Given the description of an element on the screen output the (x, y) to click on. 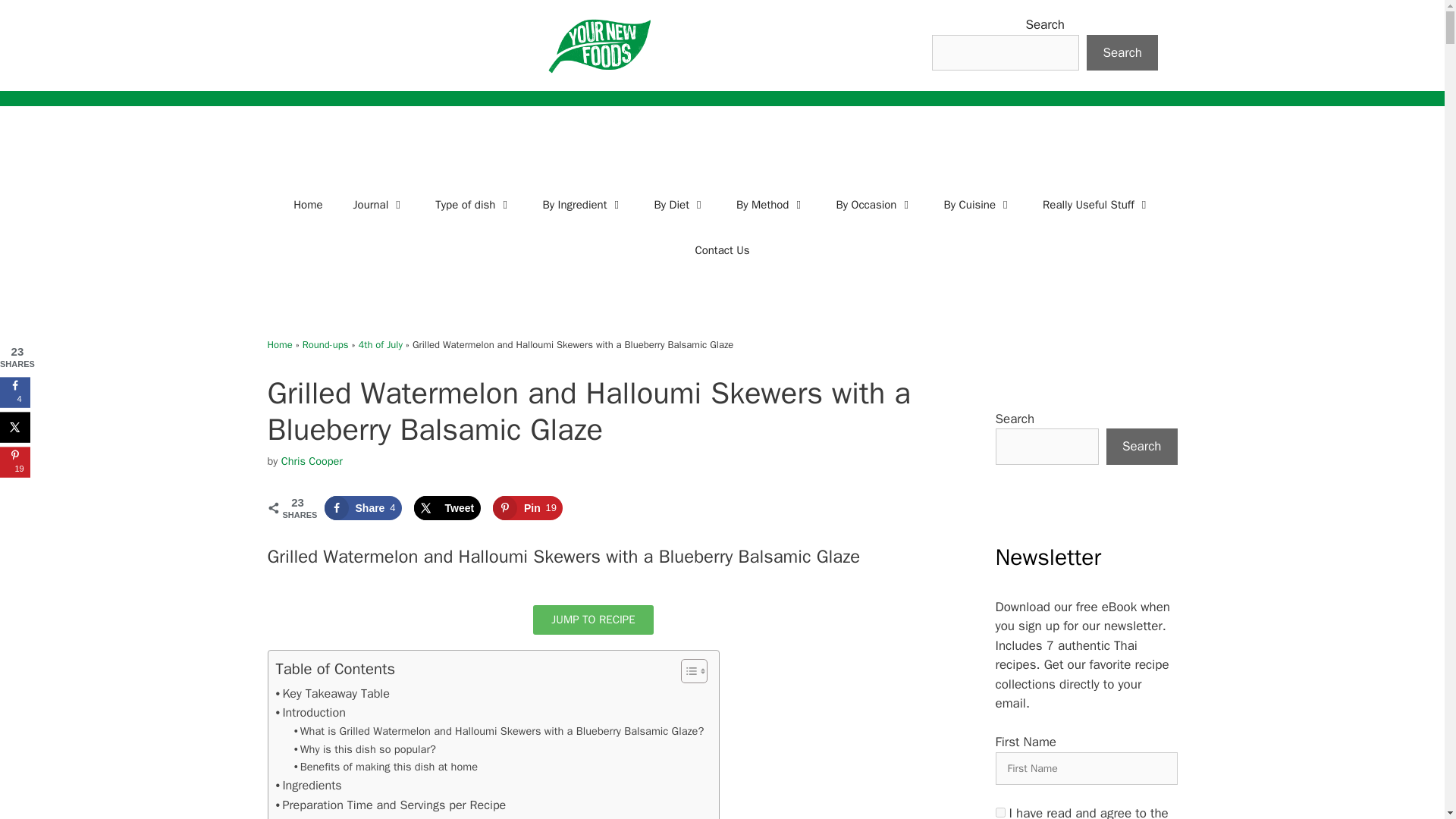
What Each Ingredient Adds to the Recipe (388, 816)
Journal (378, 204)
Share on Facebook (362, 508)
By Diet (679, 204)
Share on X (447, 508)
1 (999, 812)
By Ingredient (583, 204)
Ingredients (309, 785)
Key Takeaway Table (333, 693)
By Method (770, 204)
